Given the description of an element on the screen output the (x, y) to click on. 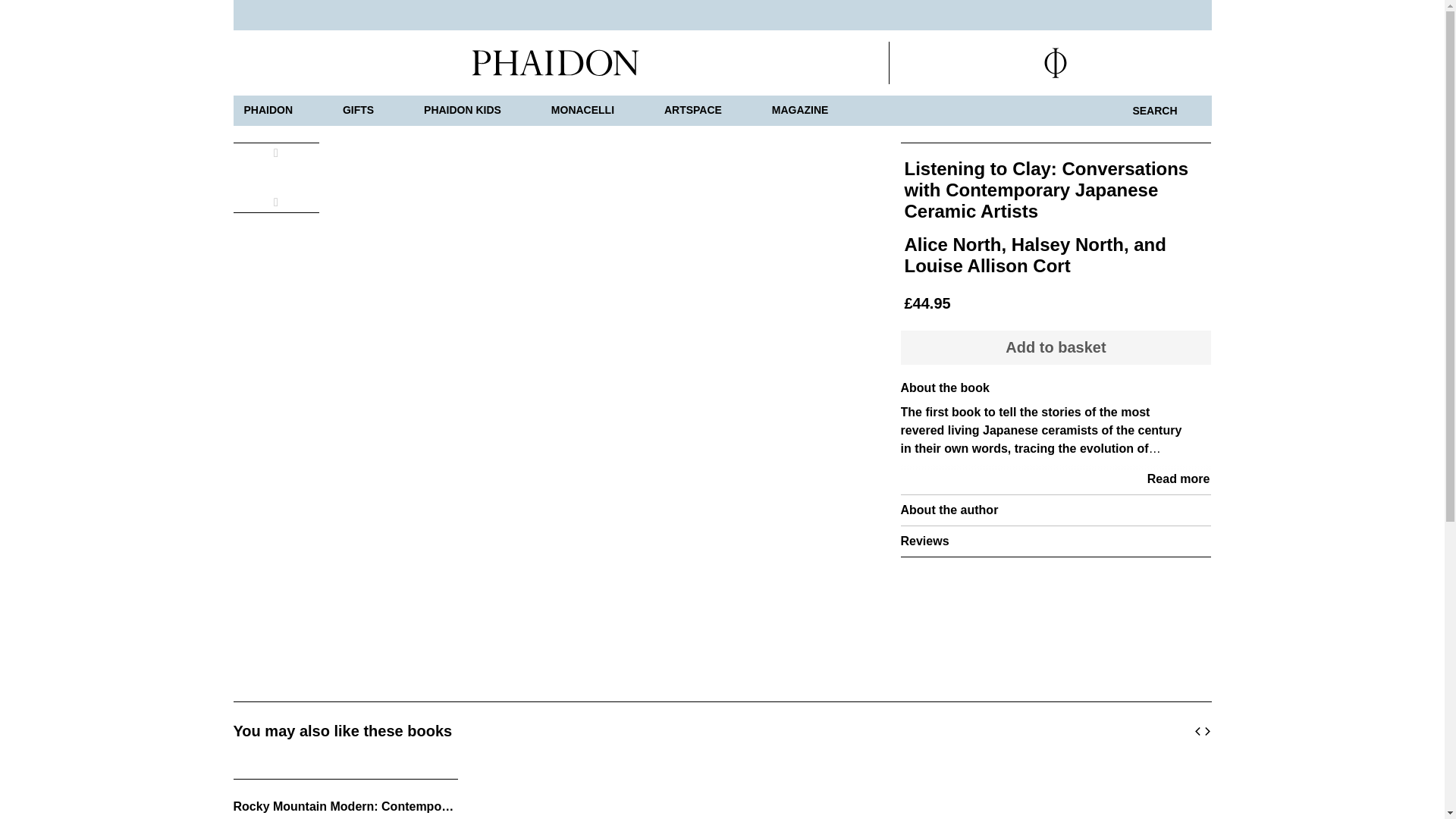
PHAIDON (268, 110)
MONACELLI (582, 110)
GIFTS (358, 110)
PHAIDON KIDS (462, 110)
